Given the description of an element on the screen output the (x, y) to click on. 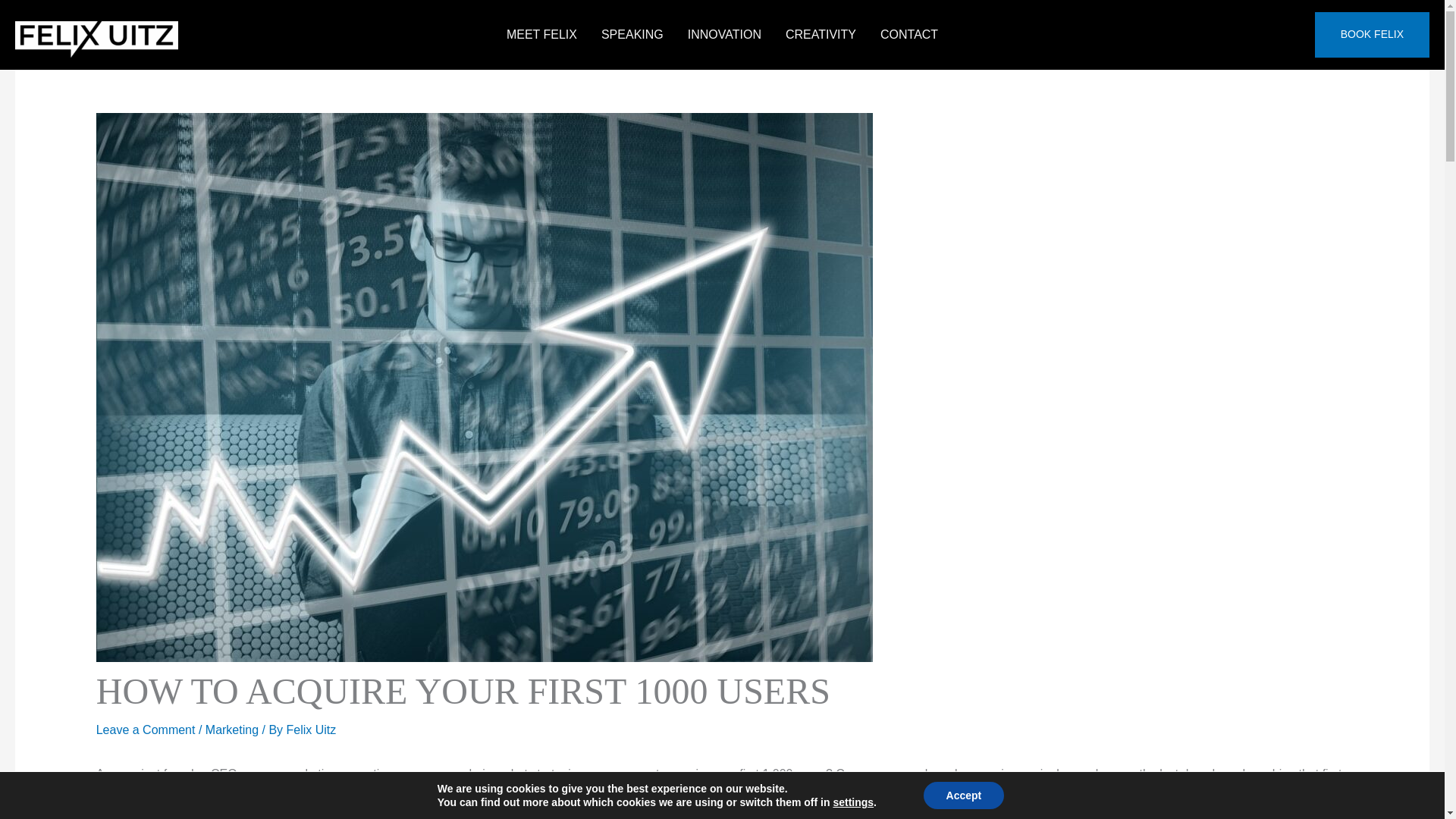
INNOVATION (724, 34)
Felix Uitz (311, 729)
MEET FELIX (542, 34)
CONTACT (908, 34)
View all posts by Felix Uitz (311, 729)
SPEAKING (632, 34)
BOOK FELIX (1371, 34)
Marketing (232, 729)
Leave a Comment (145, 729)
CREATIVITY (820, 34)
